Given the description of an element on the screen output the (x, y) to click on. 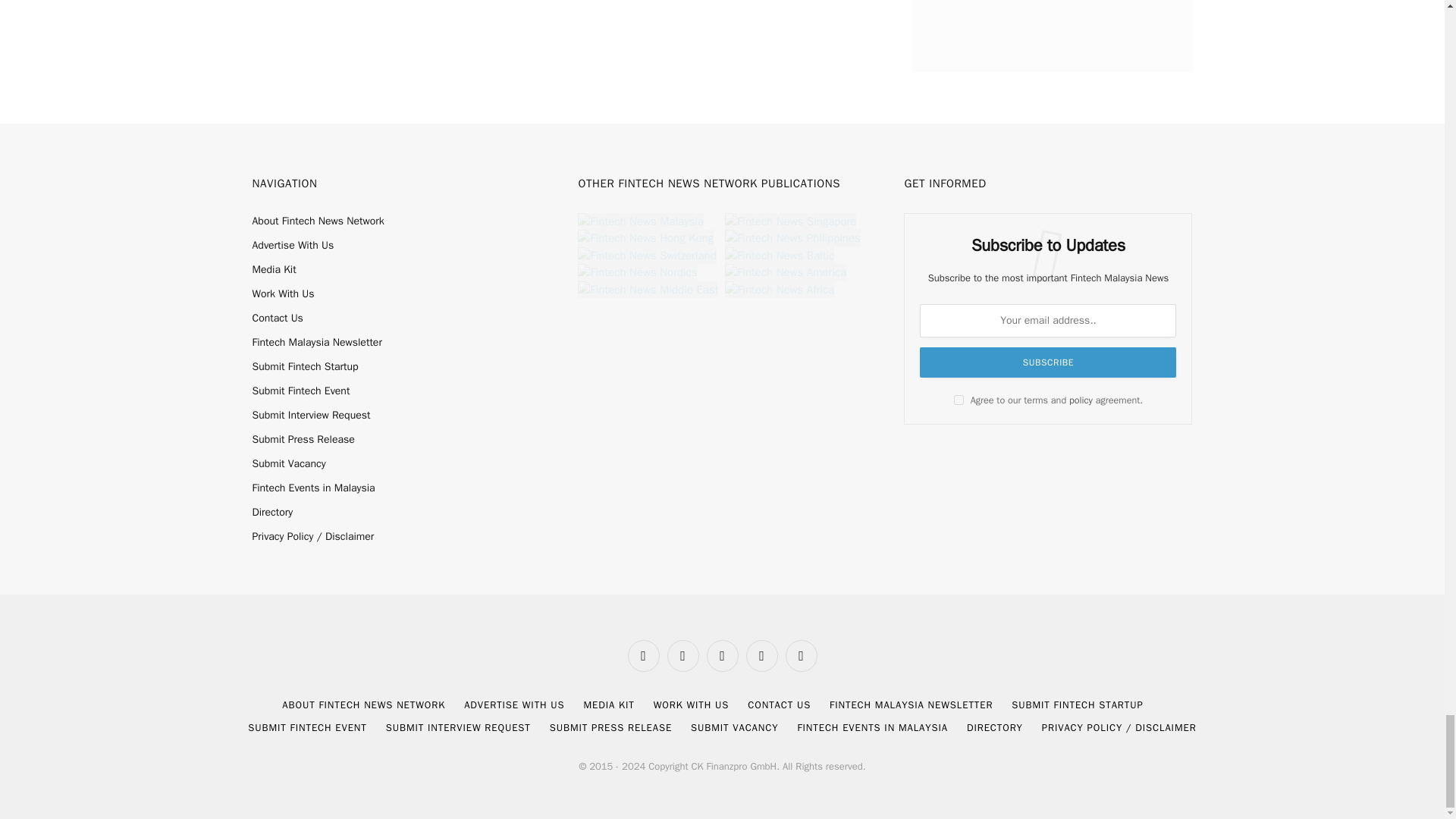
Subscribe (1048, 362)
on (958, 399)
